Given the description of an element on the screen output the (x, y) to click on. 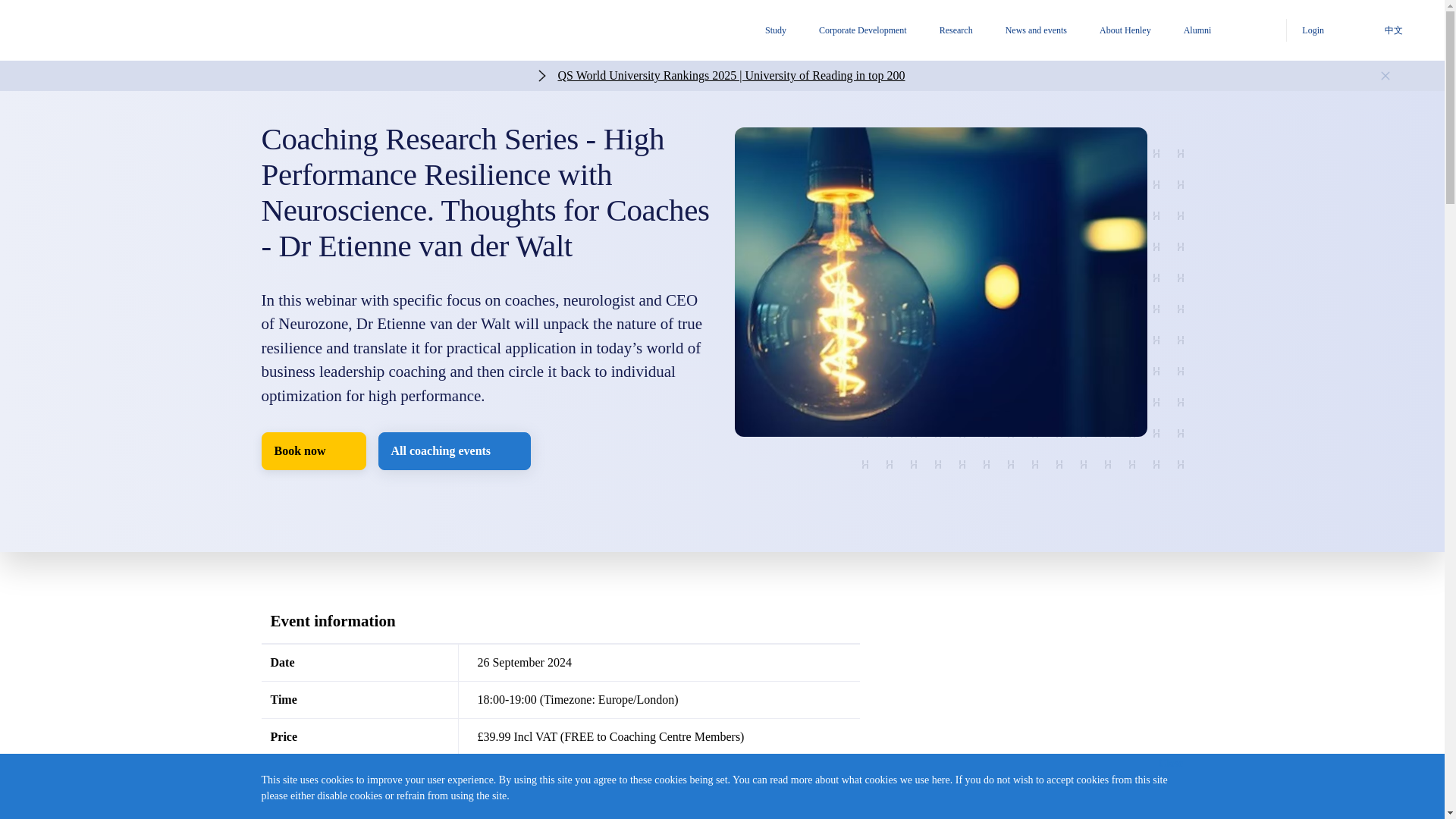
All coaching events (454, 451)
Research (972, 31)
Corporate Development (878, 31)
About Henley (1141, 31)
News and events (1052, 31)
Alumni (1213, 31)
Book now (312, 451)
